Given the description of an element on the screen output the (x, y) to click on. 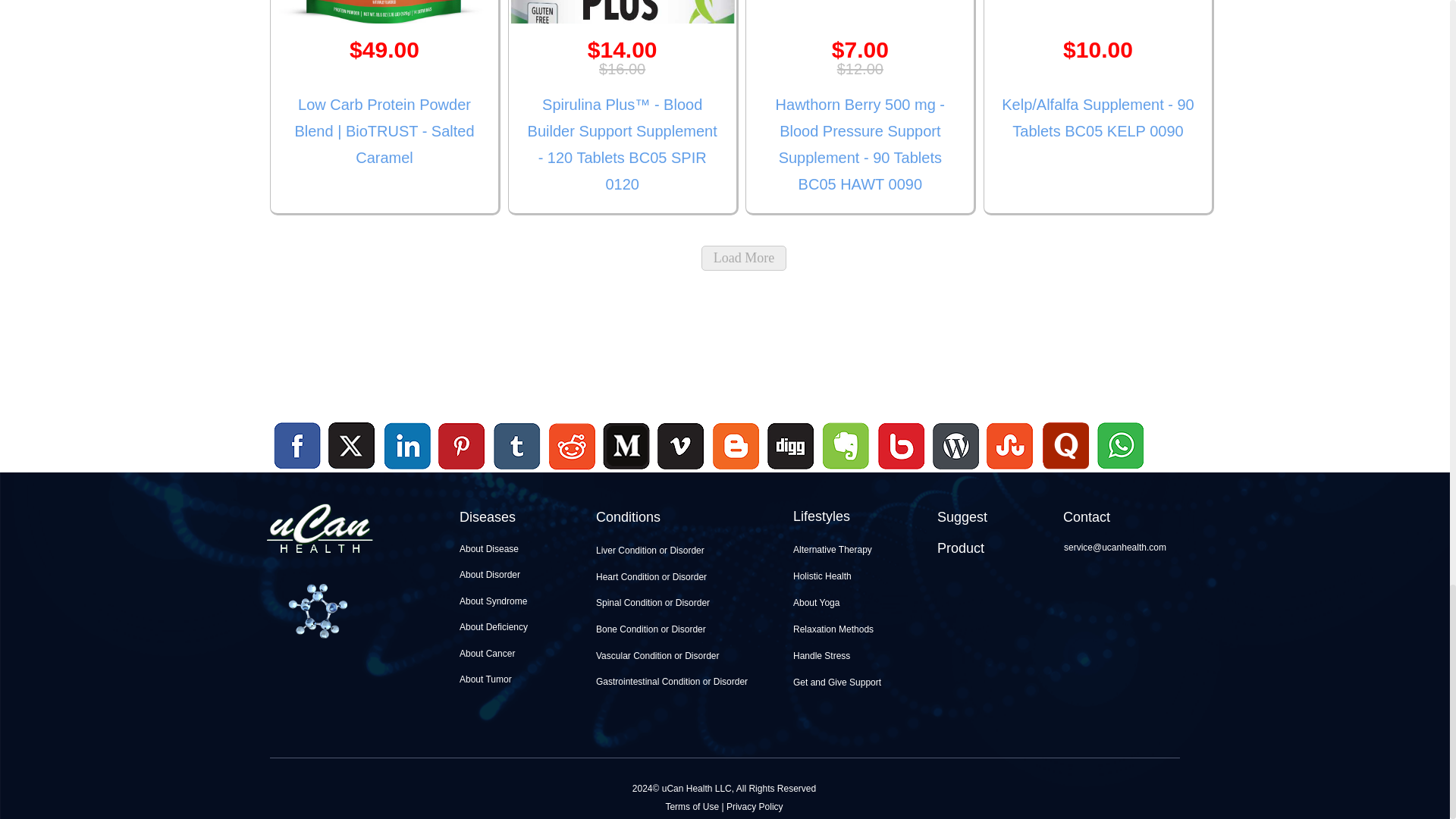
Blogger (735, 471)
Pinterest (462, 446)
WhatsApp (1118, 471)
Medium (625, 471)
Evernote (846, 446)
Reddit (571, 471)
Facebook (297, 446)
StumbleUpon (1009, 471)
Vimeo (682, 446)
LinkedIn (408, 446)
